Given the description of an element on the screen output the (x, y) to click on. 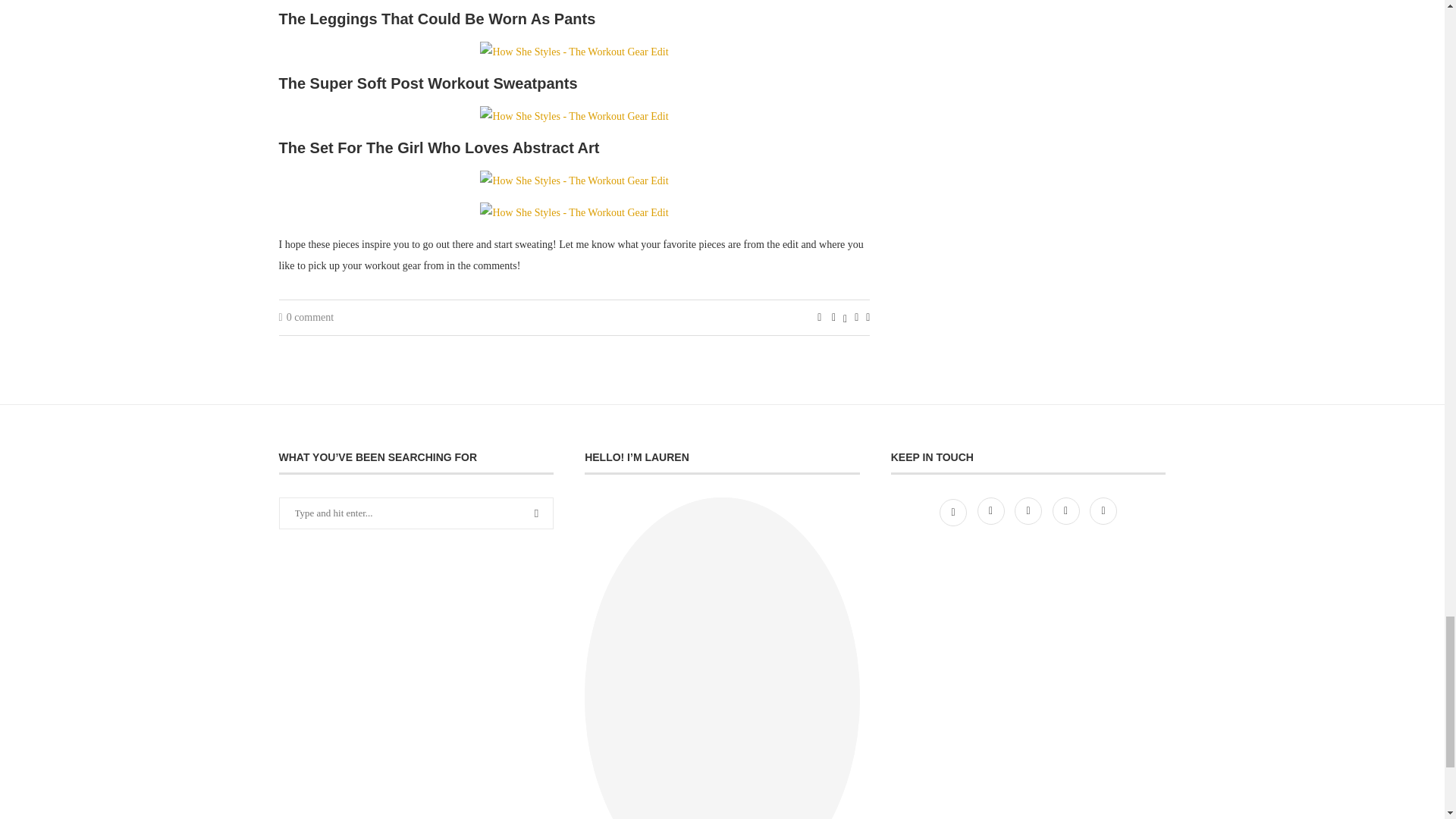
0 comment (306, 317)
